Given the description of an element on the screen output the (x, y) to click on. 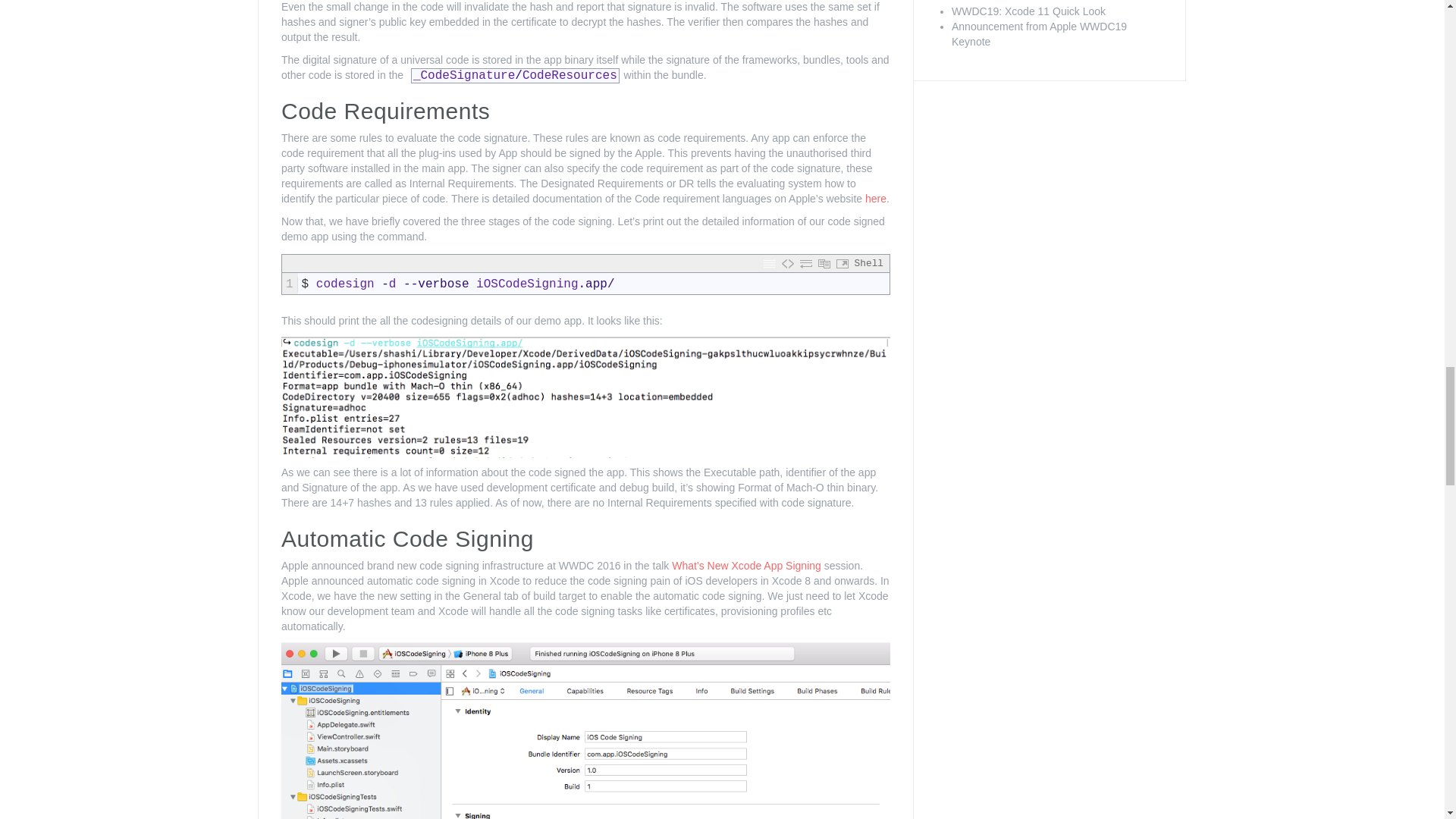
here (875, 198)
